Given the description of an element on the screen output the (x, y) to click on. 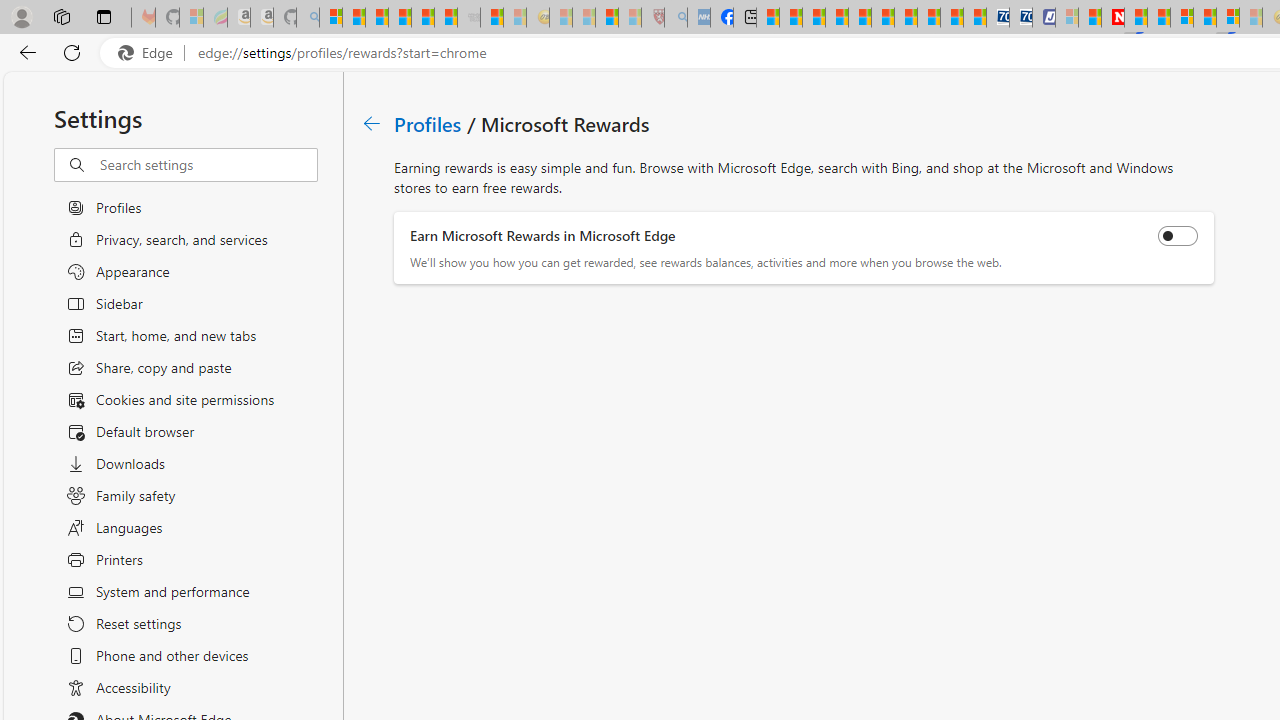
Class: c01176 (371, 123)
12 Popular Science Lies that Must be Corrected - Sleeping (630, 17)
Go back to Profiles page. (372, 123)
